Given the description of an element on the screen output the (x, y) to click on. 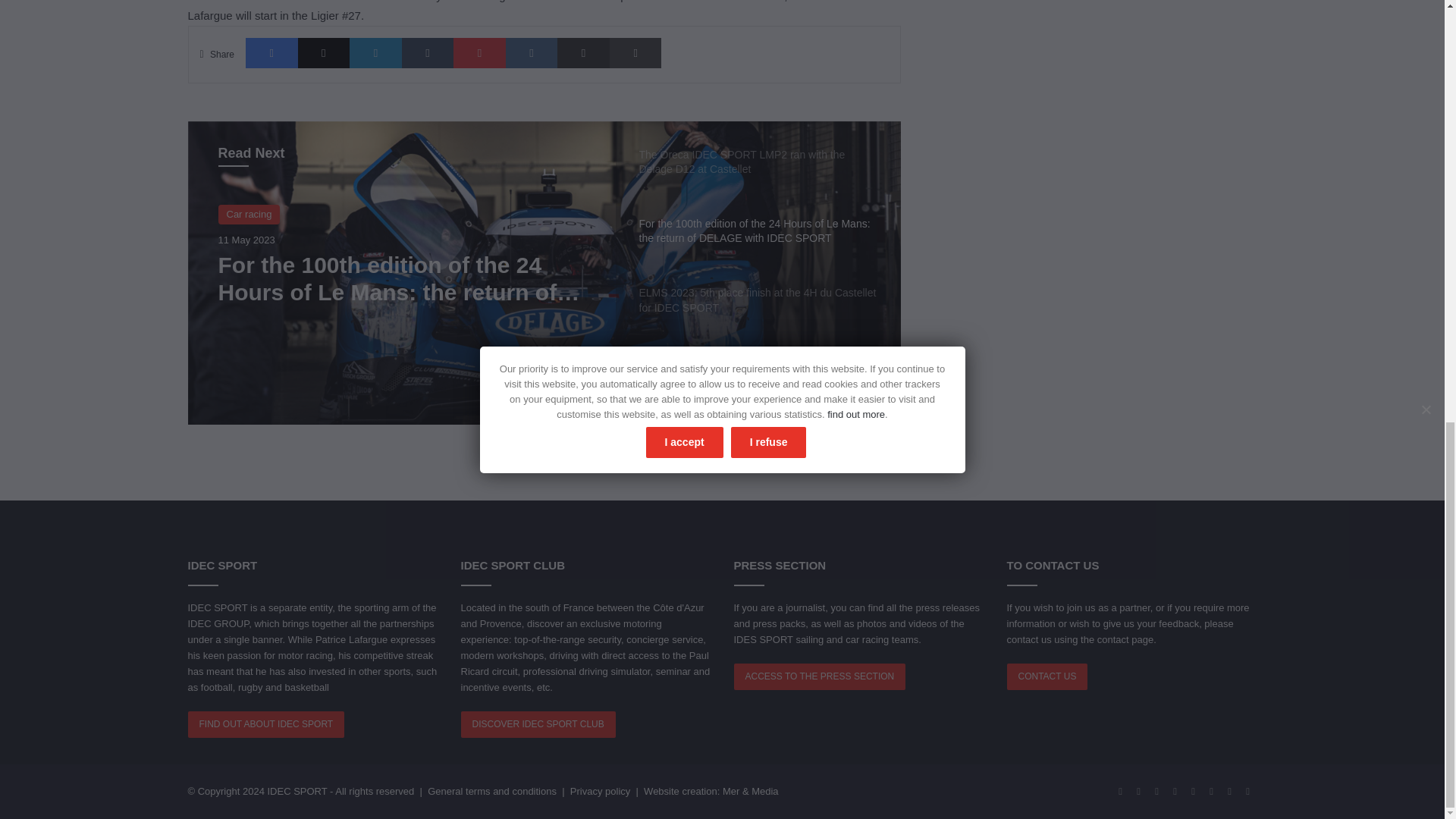
LinkedIn (375, 52)
Print (636, 52)
Tumblr (427, 52)
Pinterest (478, 52)
Share via Email (583, 52)
X (324, 52)
Facebook (272, 52)
VKontakte (531, 52)
